Given the description of an element on the screen output the (x, y) to click on. 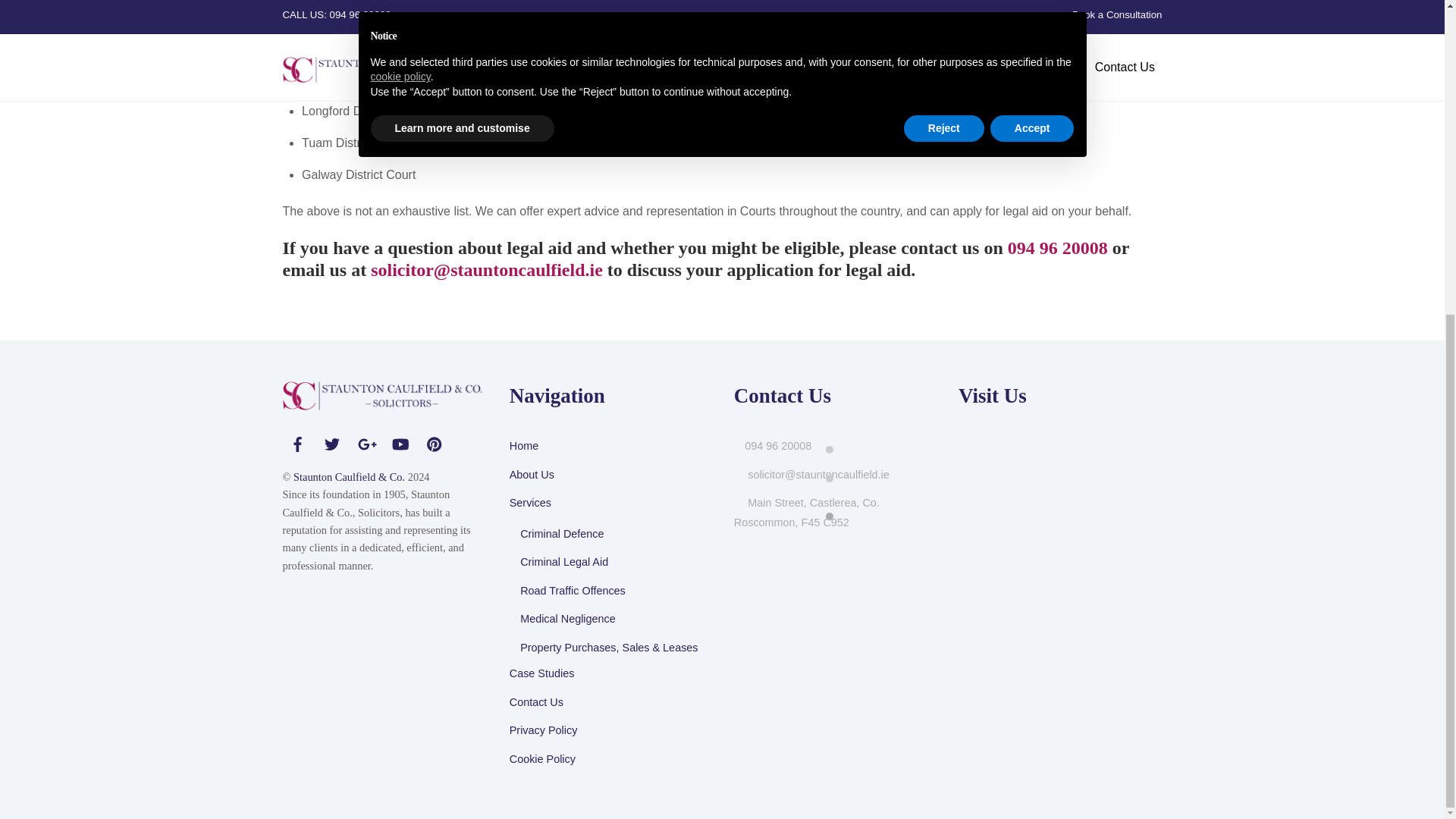
About Us (531, 474)
Medical Negligence (567, 618)
Home (523, 445)
094 96 20008 (777, 445)
094 96 20008 (1057, 247)
Contact Us (536, 702)
Cookie Policy (542, 758)
Privacy Policy (543, 729)
Case Studies (542, 673)
Criminal Defence (561, 533)
Criminal Legal Aid (563, 562)
staunton caulfield logo (381, 395)
Road Traffic Offences (572, 590)
Services (530, 502)
